Given the description of an element on the screen output the (x, y) to click on. 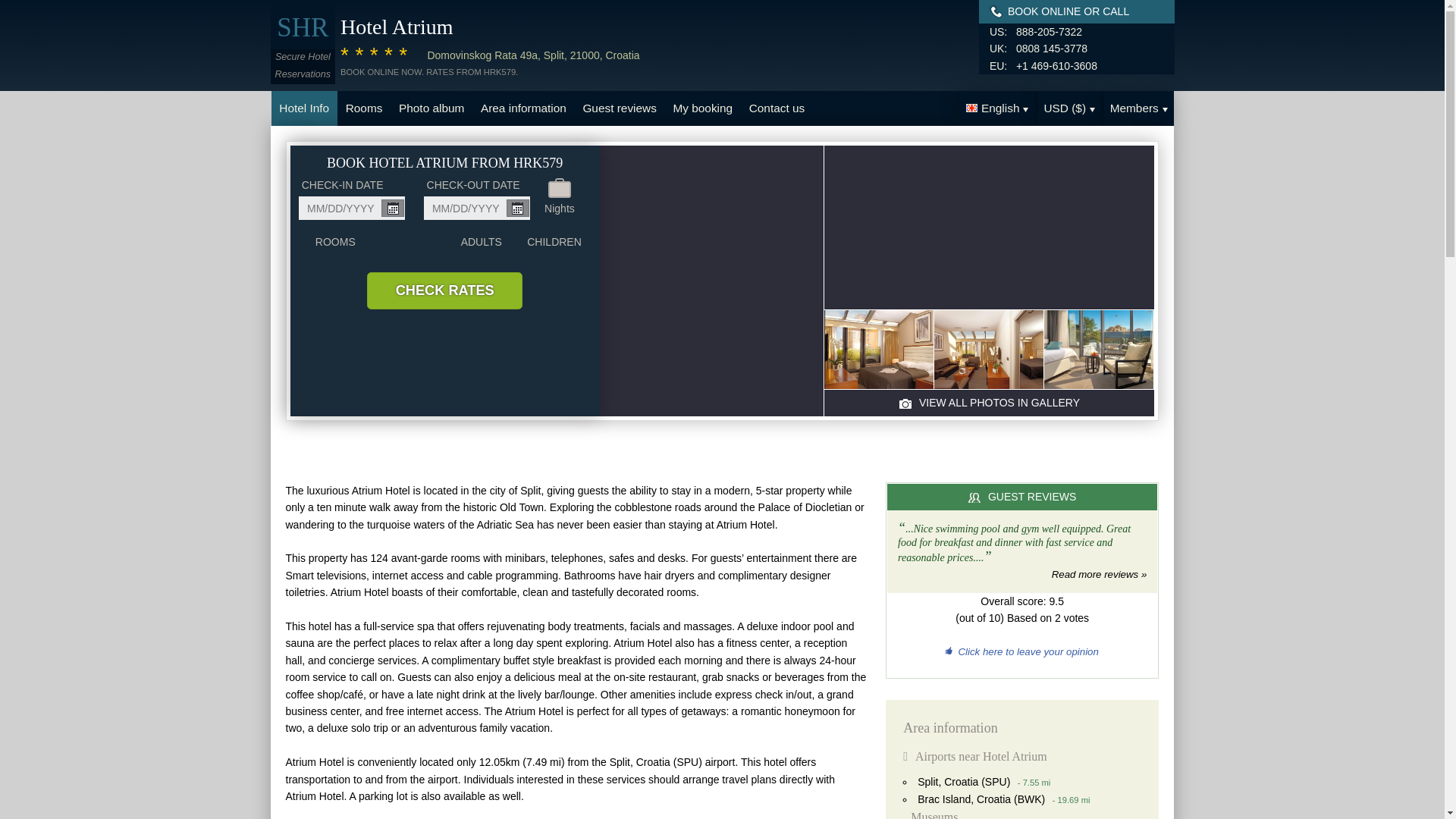
My booking (703, 107)
Rooms (363, 107)
Area information (522, 107)
Contact us (776, 107)
Hotel Info (303, 107)
Guest reviews (620, 107)
